Given the description of an element on the screen output the (x, y) to click on. 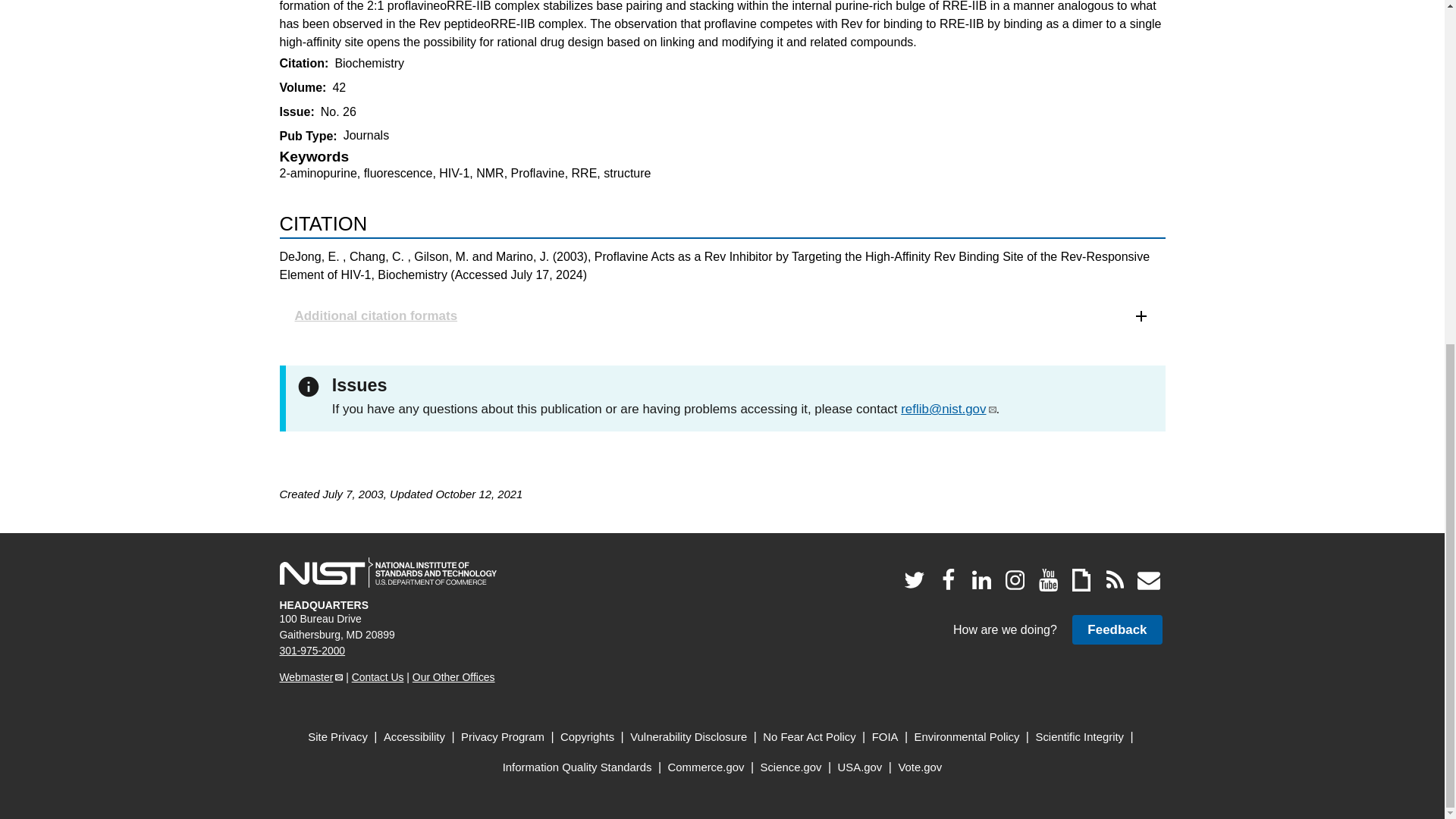
Vulnerability Disclosure (688, 736)
Additional citation formats (721, 315)
Provide feedback (1116, 629)
FOIA (885, 736)
Privacy Program (502, 736)
Scientific Integrity (1079, 736)
Information Quality Standards (577, 767)
Accessibility (414, 736)
Our Other Offices (453, 676)
Copyrights (587, 736)
Webmaster (310, 676)
Feedback (1116, 629)
Site Privacy (337, 736)
National Institute of Standards and Technology (387, 572)
Contact Us (378, 676)
